Given the description of an element on the screen output the (x, y) to click on. 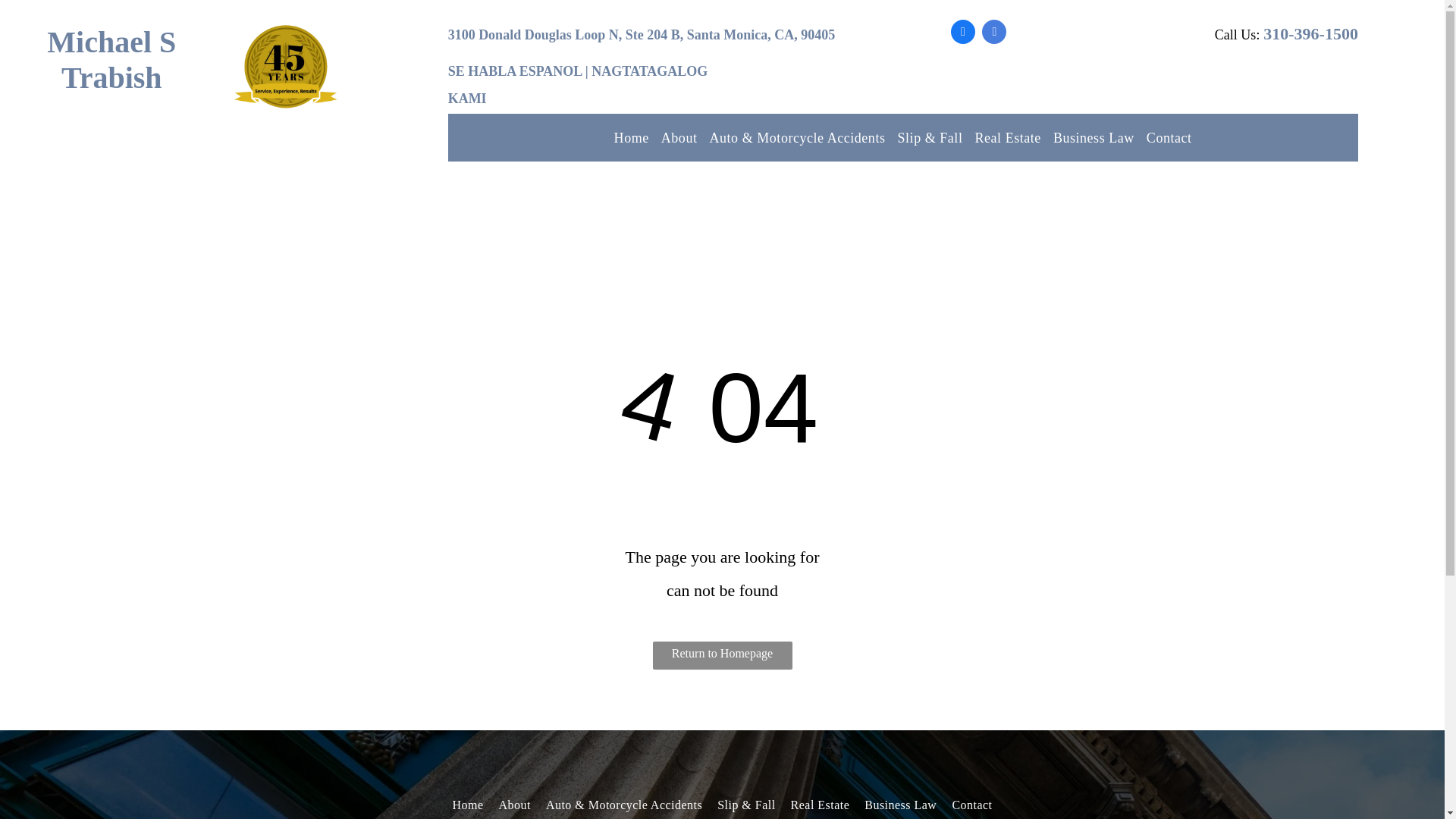
3100 Donald Douglas Loop N, Ste 204 B, Santa Monica, CA (621, 34)
Contact (970, 804)
About (679, 137)
Business Law (900, 804)
Contact (1169, 137)
Real Estate (1007, 137)
Return to Homepage (722, 655)
Michael S Trabish (111, 60)
Real Estate (820, 804)
310-396-1500 (1310, 33)
Business Law (1093, 137)
Home (467, 804)
Home (631, 137)
About (515, 804)
